Given the description of an element on the screen output the (x, y) to click on. 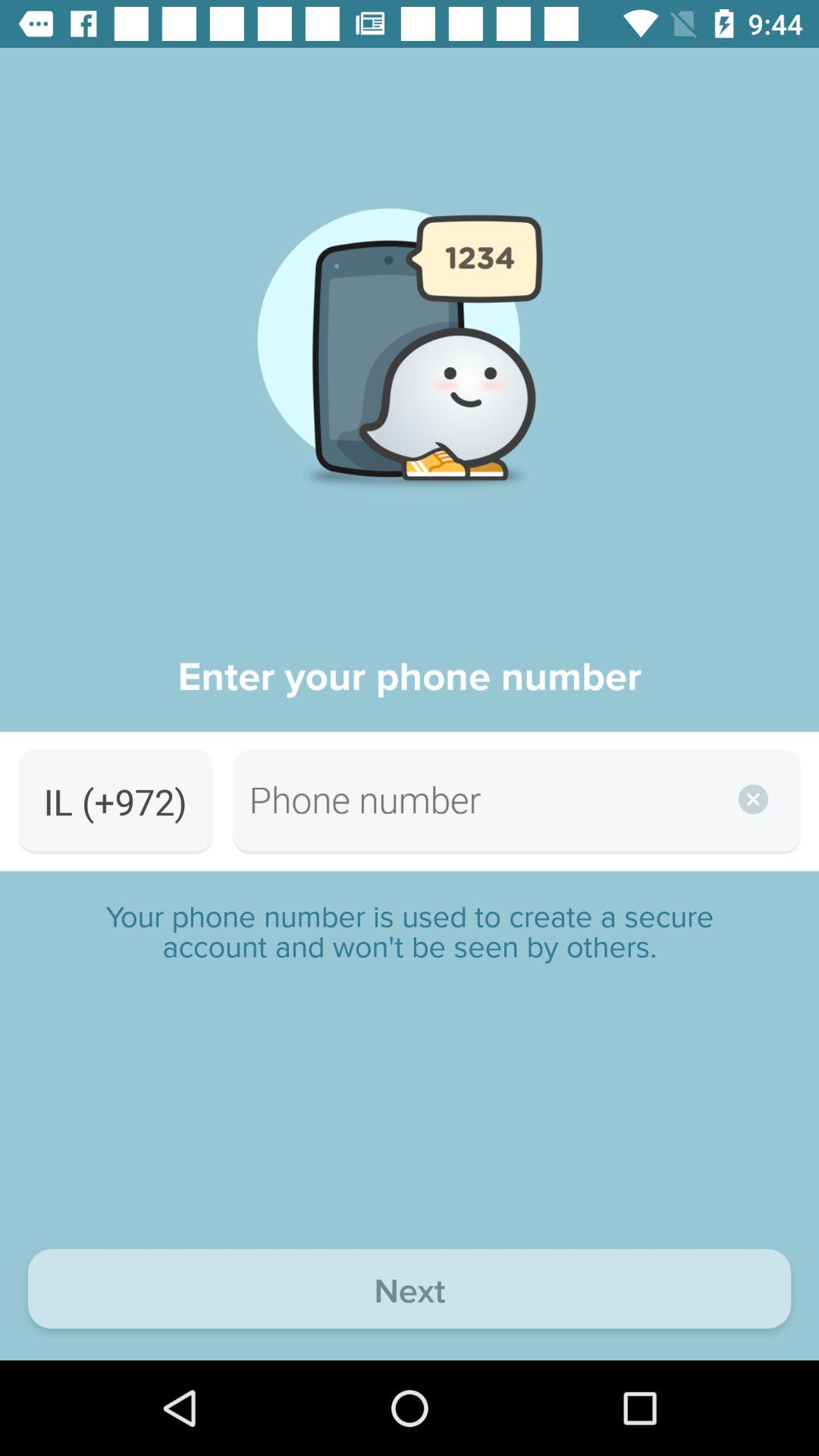
click il (+972) on the left (114, 801)
